Given the description of an element on the screen output the (x, y) to click on. 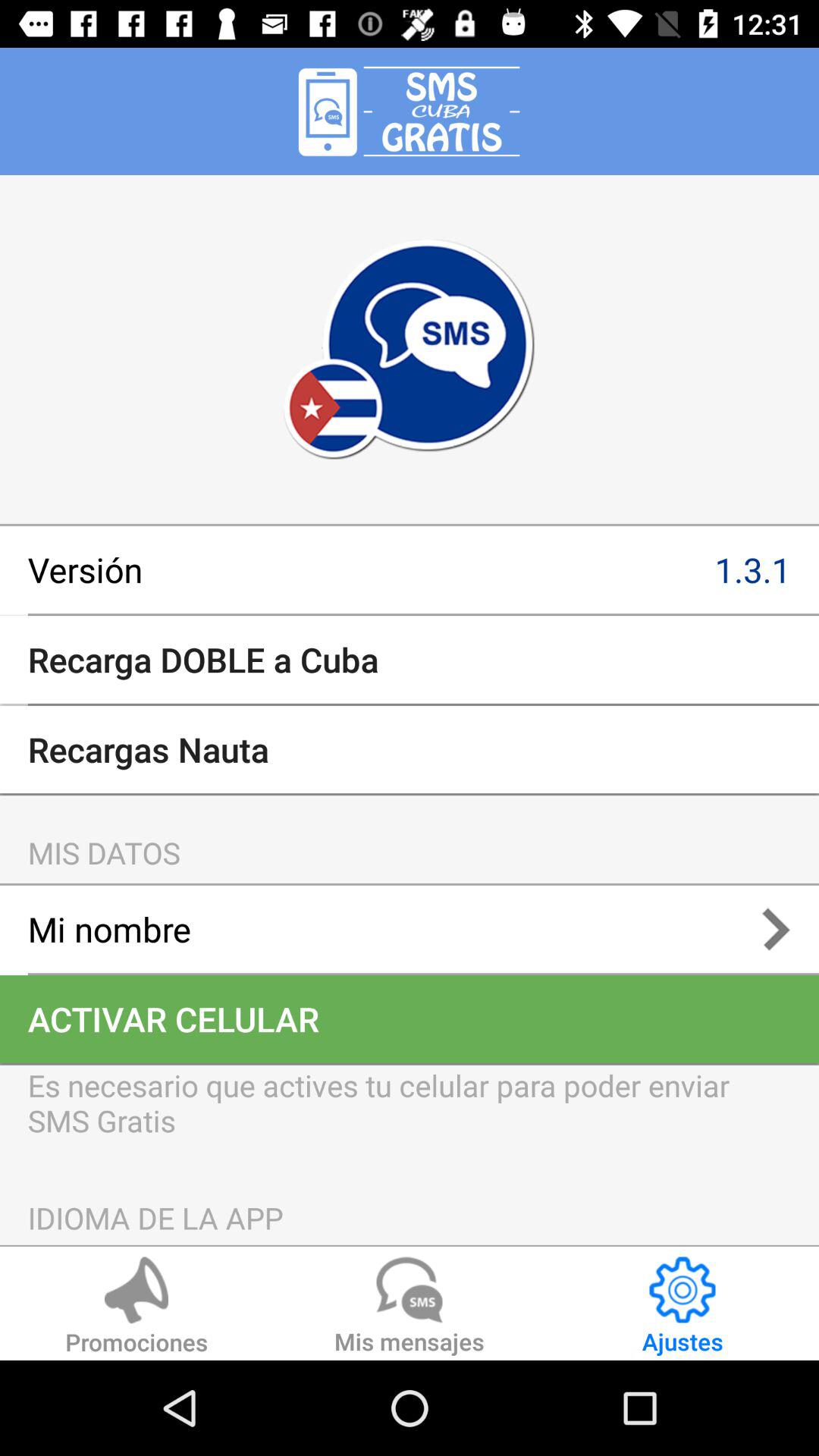
press the recarga doble a icon (409, 659)
